Given the description of an element on the screen output the (x, y) to click on. 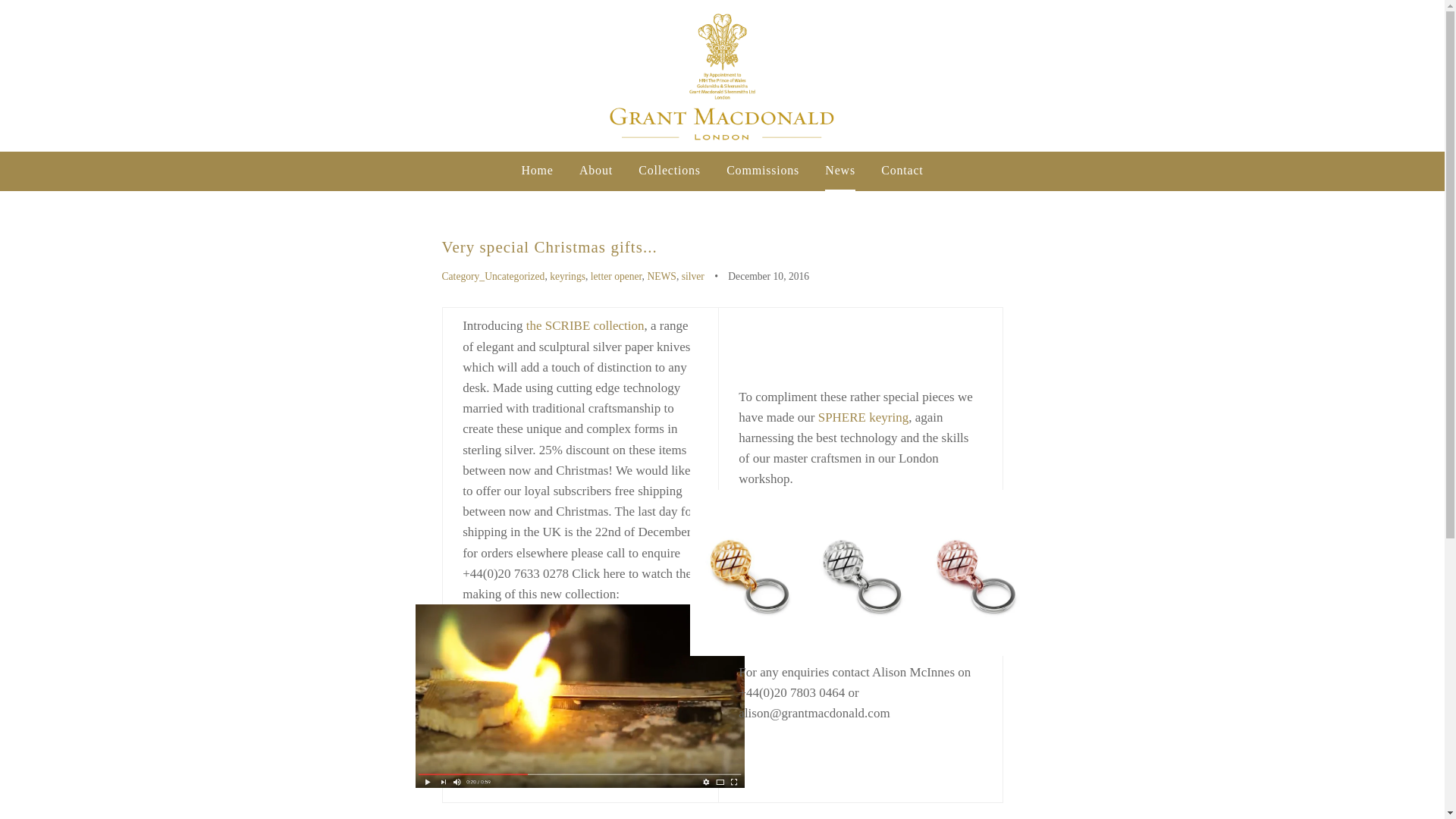
Commissions (762, 170)
Contact (901, 170)
Search (1359, 75)
About (595, 170)
Home (536, 170)
Cart (1413, 75)
Collections (669, 170)
News (839, 170)
Menu (34, 75)
